Given the description of an element on the screen output the (x, y) to click on. 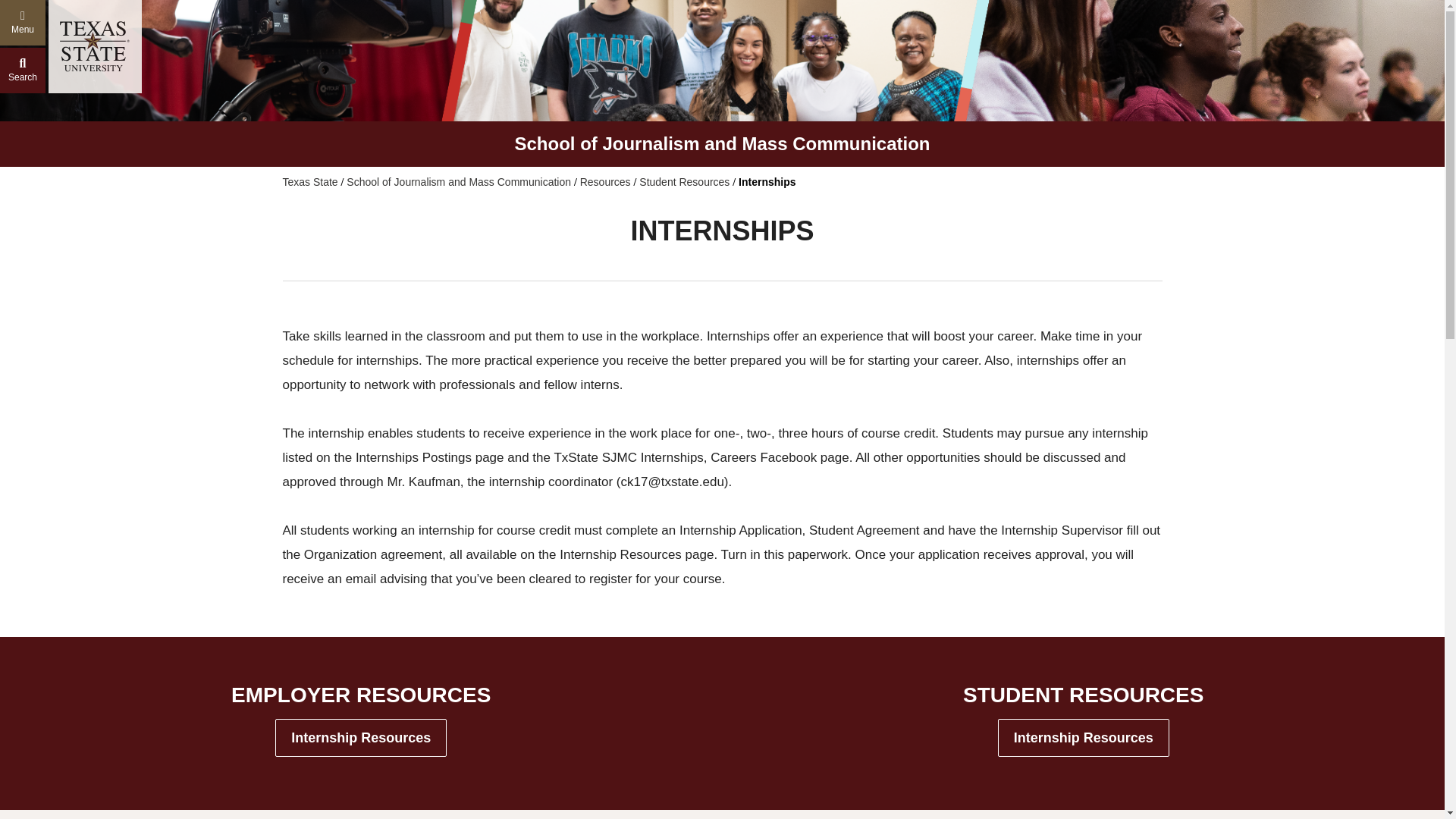
Texas State (309, 182)
School of Journalism and Mass Communication (721, 143)
Student Resources (684, 182)
School of Journalism and Mass Communication (458, 182)
Internship Resources (1083, 737)
Internship Resources (360, 737)
Search (22, 70)
Resources (604, 182)
